Given the description of an element on the screen output the (x, y) to click on. 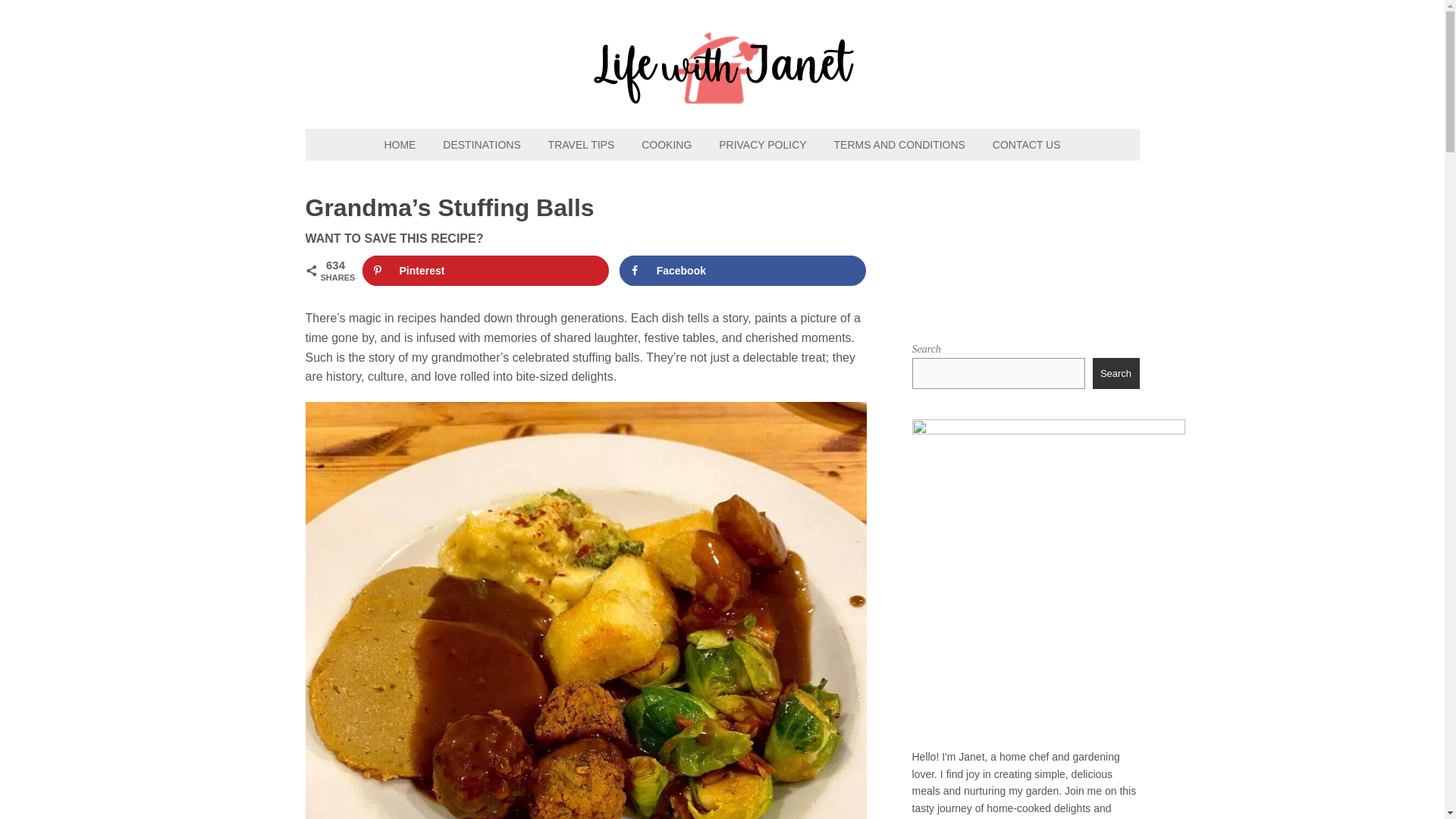
Life with Janet (721, 95)
COOKING (665, 144)
Pinterest (486, 270)
Share on Facebook (743, 270)
TRAVEL TIPS (581, 144)
Save to Pinterest (486, 270)
Search (1116, 372)
CONTACT US (1026, 144)
PRIVACY POLICY (762, 144)
TERMS AND CONDITIONS (899, 144)
Facebook (743, 270)
DESTINATIONS (481, 144)
HOME (399, 144)
